Given the description of an element on the screen output the (x, y) to click on. 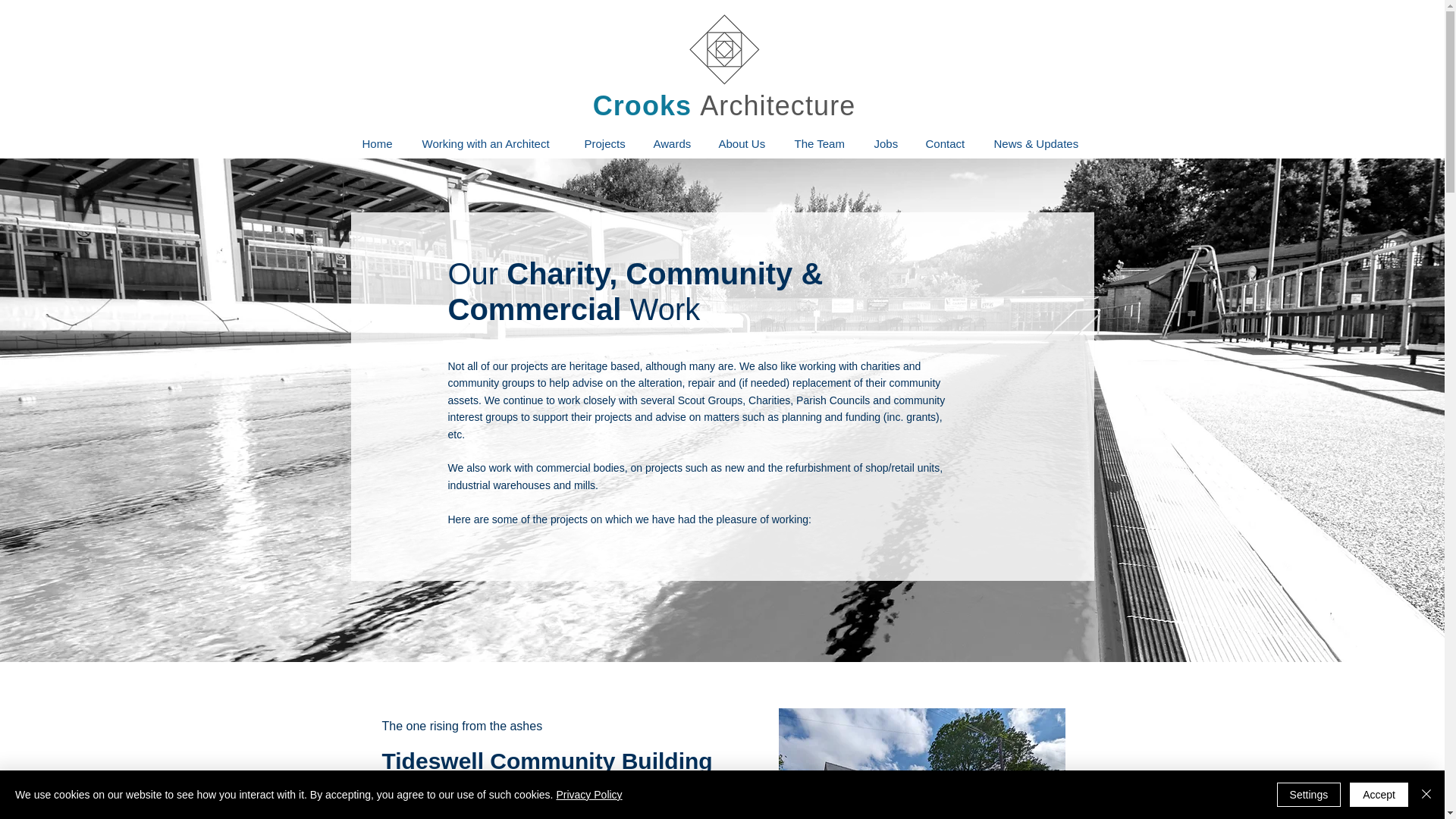
Working with an Architect (491, 143)
About Us (744, 143)
Privacy Policy (588, 794)
Logo Only.png (722, 48)
Awards (674, 143)
Contact (948, 143)
Accept (1378, 794)
Crooks Architecture (724, 105)
The Team (822, 143)
Jobs (888, 143)
